Given the description of an element on the screen output the (x, y) to click on. 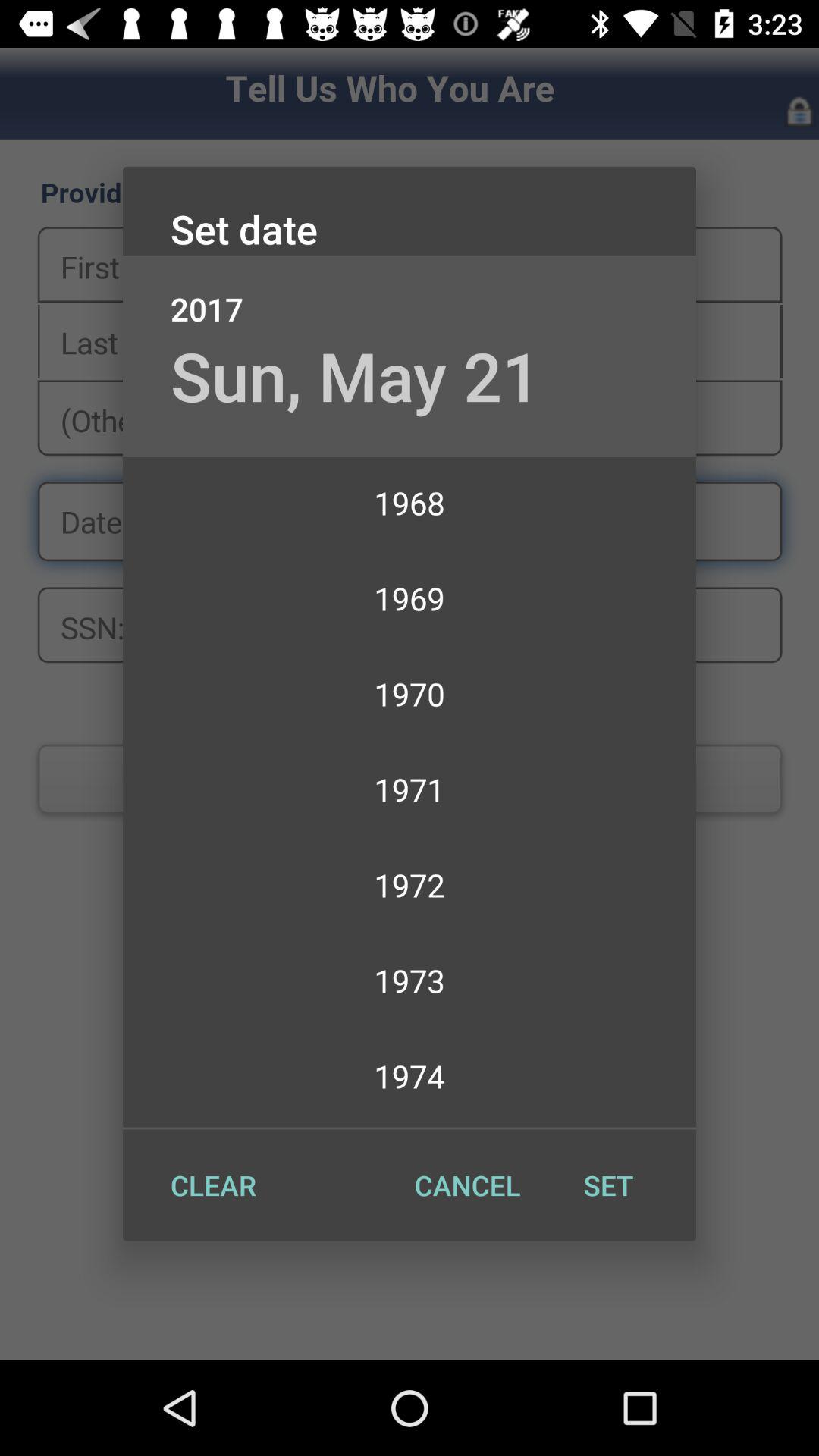
select item above the sun, may 21 icon (409, 292)
